Given the description of an element on the screen output the (x, y) to click on. 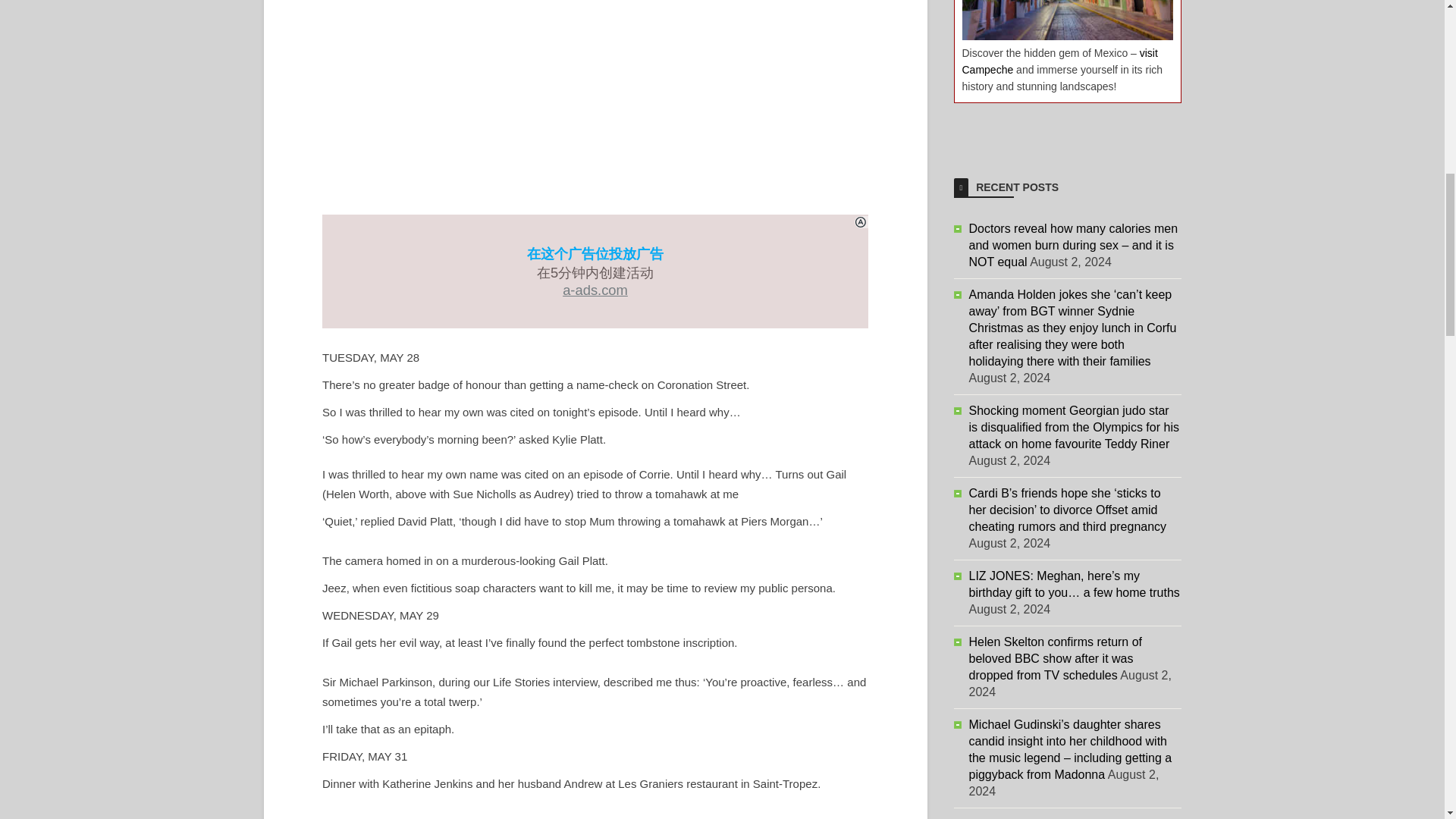
visit Campeche (1058, 61)
